Given the description of an element on the screen output the (x, y) to click on. 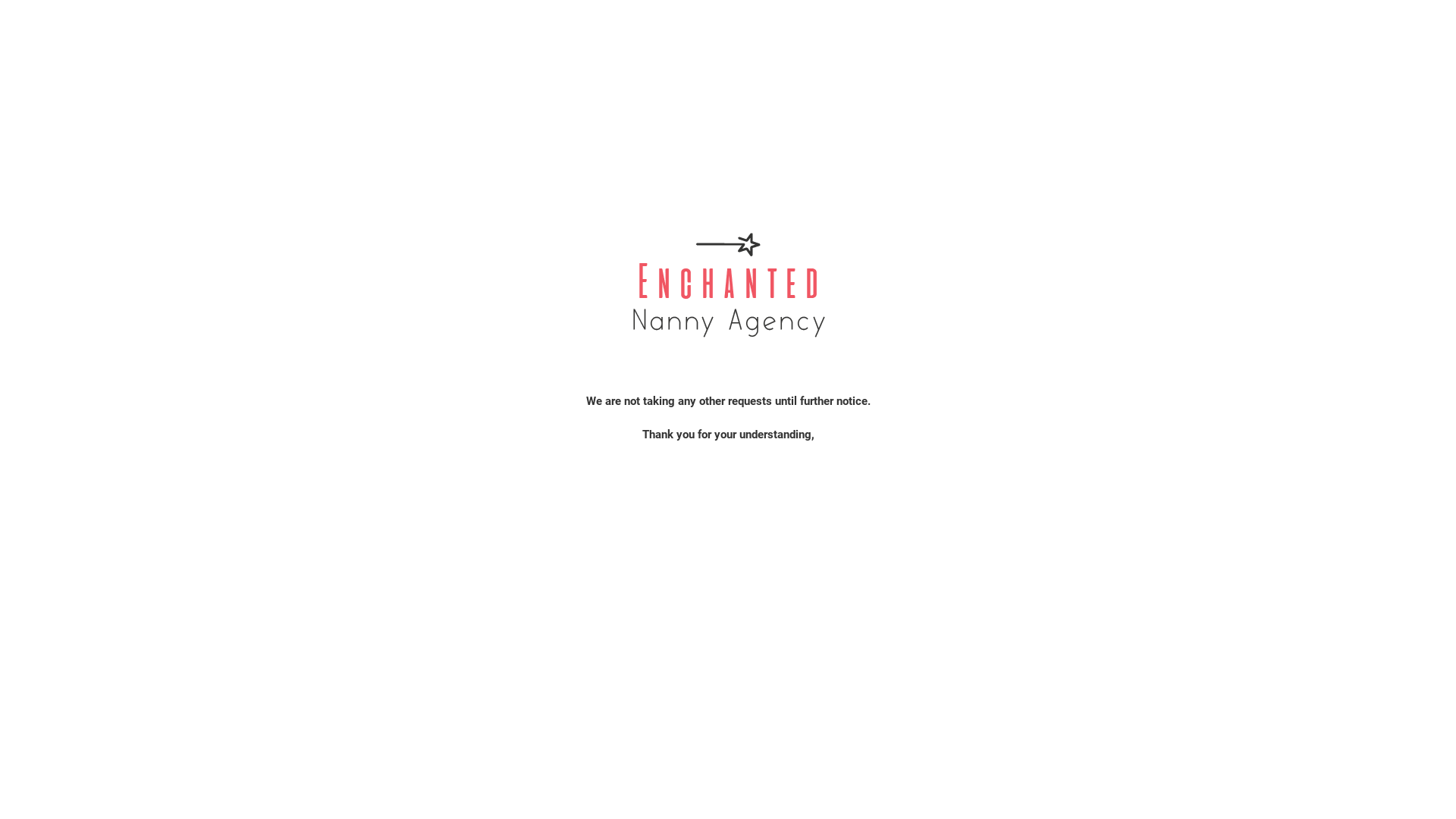
Artboard 3 copy Element type: hover (728, 283)
